Given the description of an element on the screen output the (x, y) to click on. 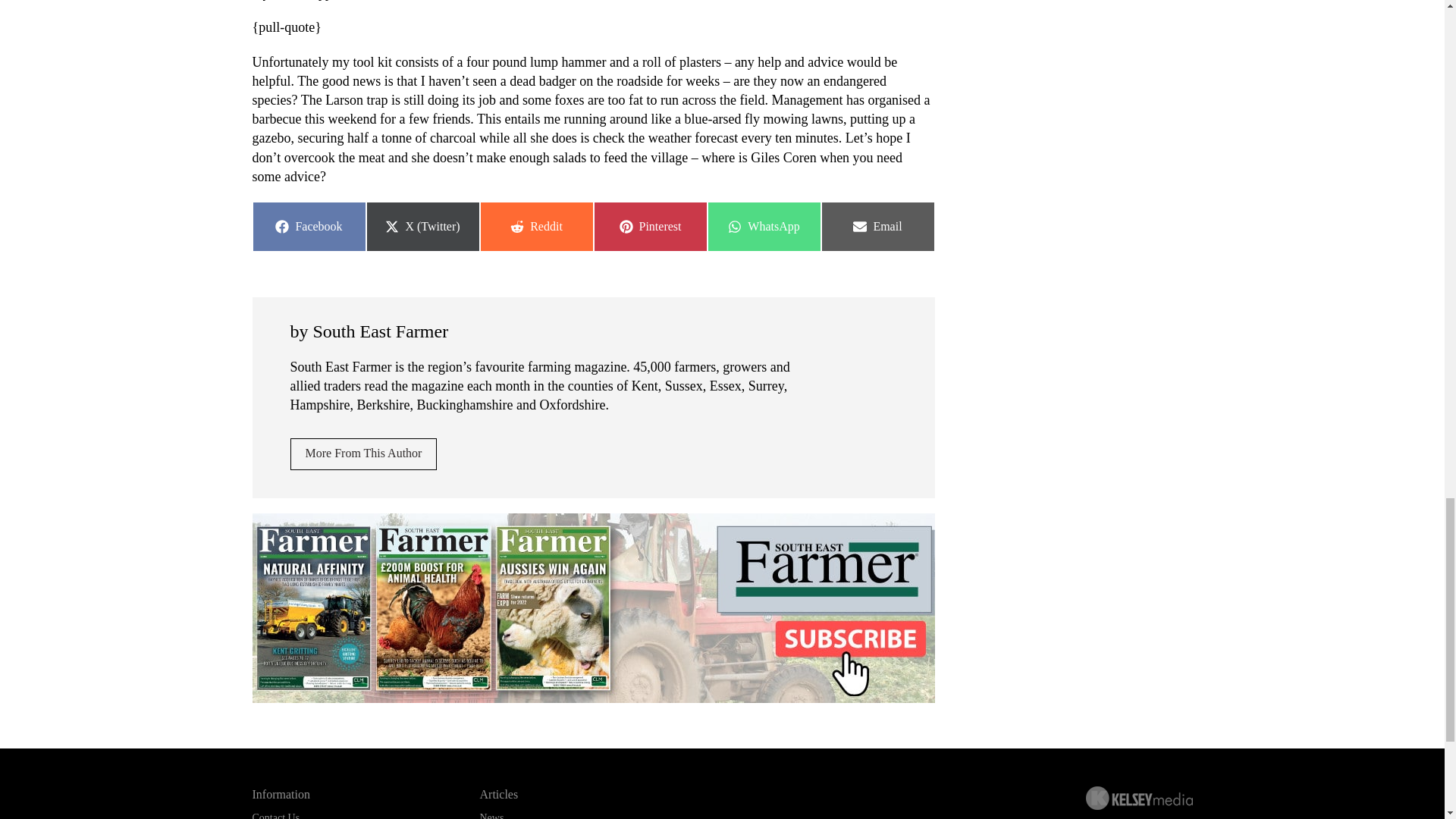
More From This Author (308, 226)
Contact Us (877, 226)
